Given the description of an element on the screen output the (x, y) to click on. 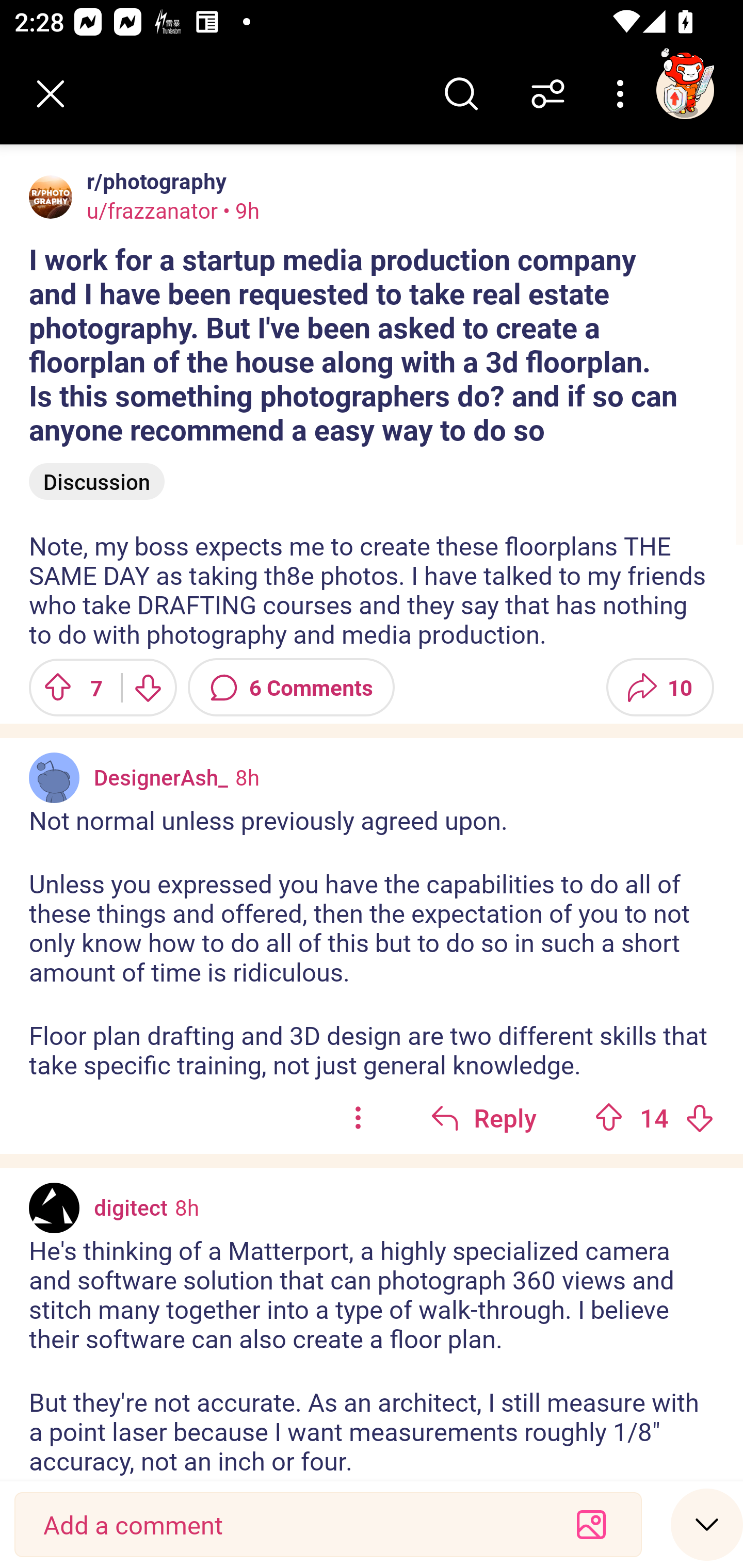
Back (50, 93)
TestAppium002 account (685, 90)
Search comments (460, 93)
Sort comments (547, 93)
More options (623, 93)
r/photography (153, 181)
Avatar (50, 196)
u/frazzanator (151, 210)
Discussion (96, 481)
Upvote 7 (67, 687)
Downvote (146, 687)
6 Comments (290, 687)
Share 10 (660, 687)
Avatar (53, 777)
8h (247, 776)
options (358, 1117)
Reply (483, 1117)
Upvote 14 14 votes Downvote (654, 1117)
Upvote (608, 1117)
Downvote (699, 1117)
Avatar (53, 1208)
8h (186, 1207)
Speed read (706, 1524)
Add a comment (291, 1524)
Add an image (590, 1524)
